Given the description of an element on the screen output the (x, y) to click on. 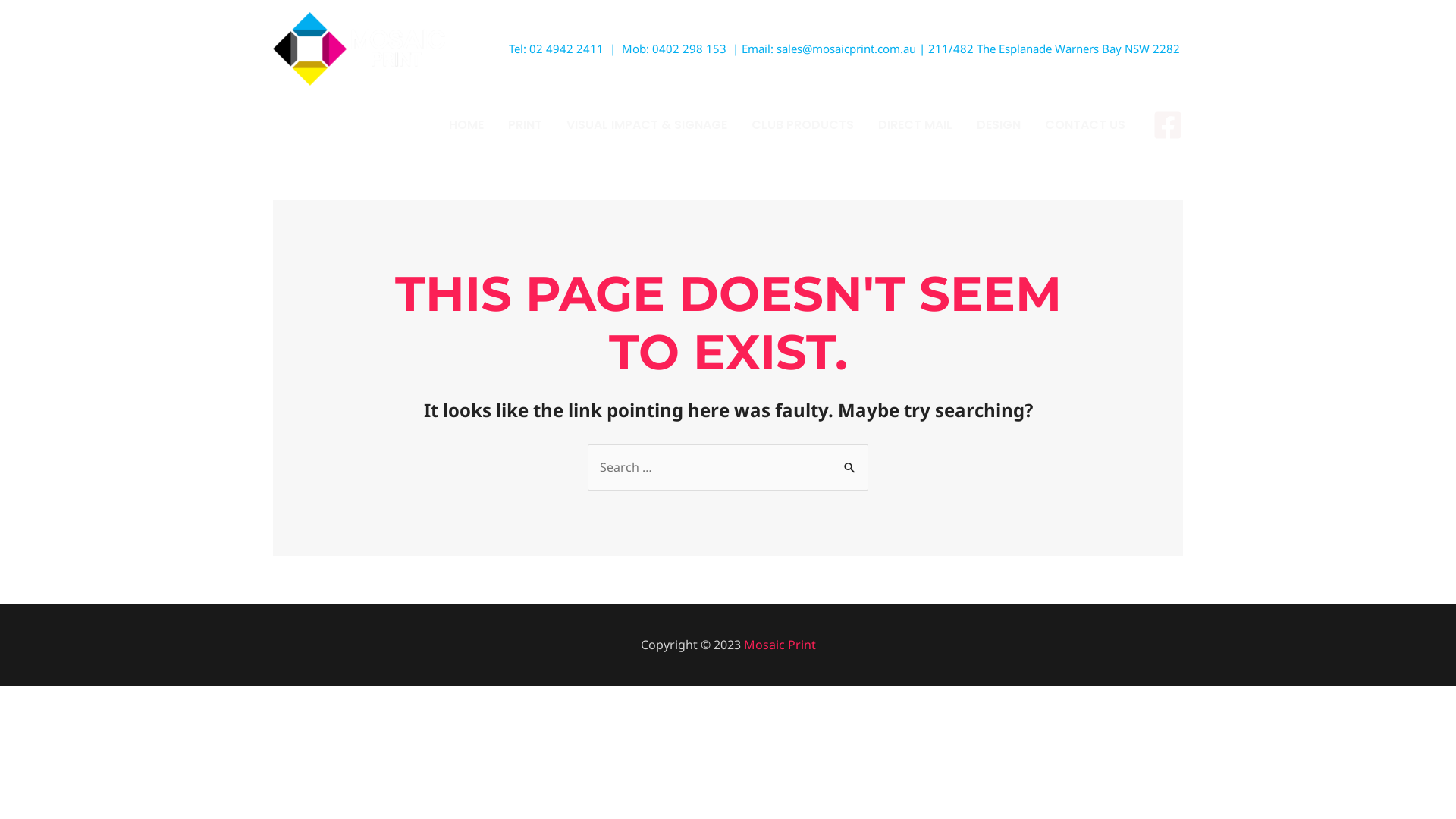
| Element type: text (922, 48)
Email: Element type: text (758, 48)
DESIGN Element type: text (998, 124)
sales@mosaicprint.com.au Element type: text (847, 48)
Mosaic Print Element type: text (779, 644)
211/482 The Esplanade Warners Bay NSW 2282  Element type: text (1055, 48)
Search Element type: text (851, 459)
02 4942 2411 Element type: text (566, 48)
HOME Element type: text (465, 124)
CLUB PRODUCTS Element type: text (802, 124)
PRINT Element type: text (524, 124)
DIRECT MAIL Element type: text (915, 124)
VISUAL IMPACT & SIGNAGE Element type: text (646, 124)
0402 298 153 Element type: text (689, 48)
CONTACT US Element type: text (1084, 124)
